Given the description of an element on the screen output the (x, y) to click on. 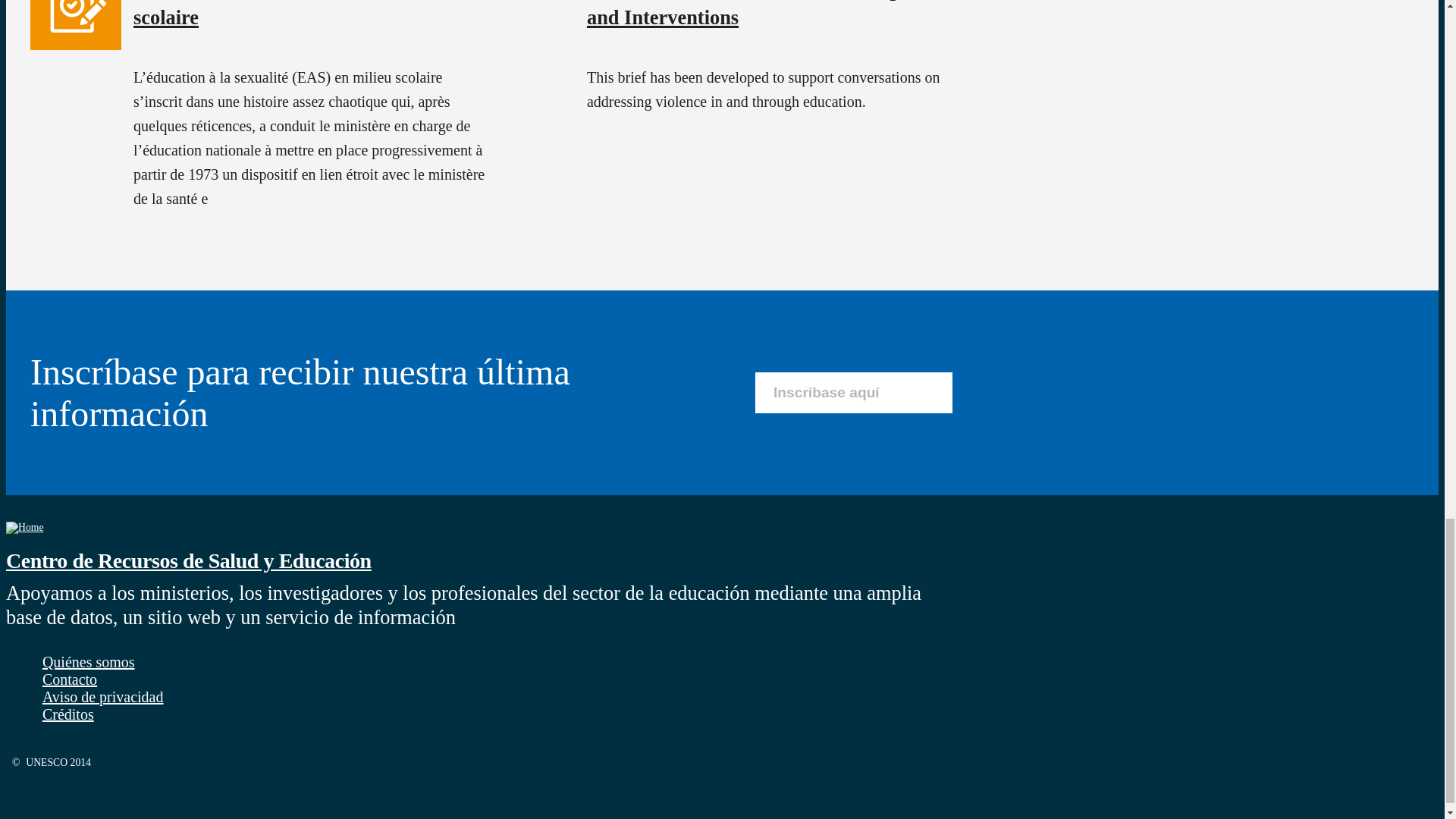
Home (24, 527)
Home (188, 560)
Violence in Schools: Prevalence, Impact, and Interventions (758, 14)
